Given the description of an element on the screen output the (x, y) to click on. 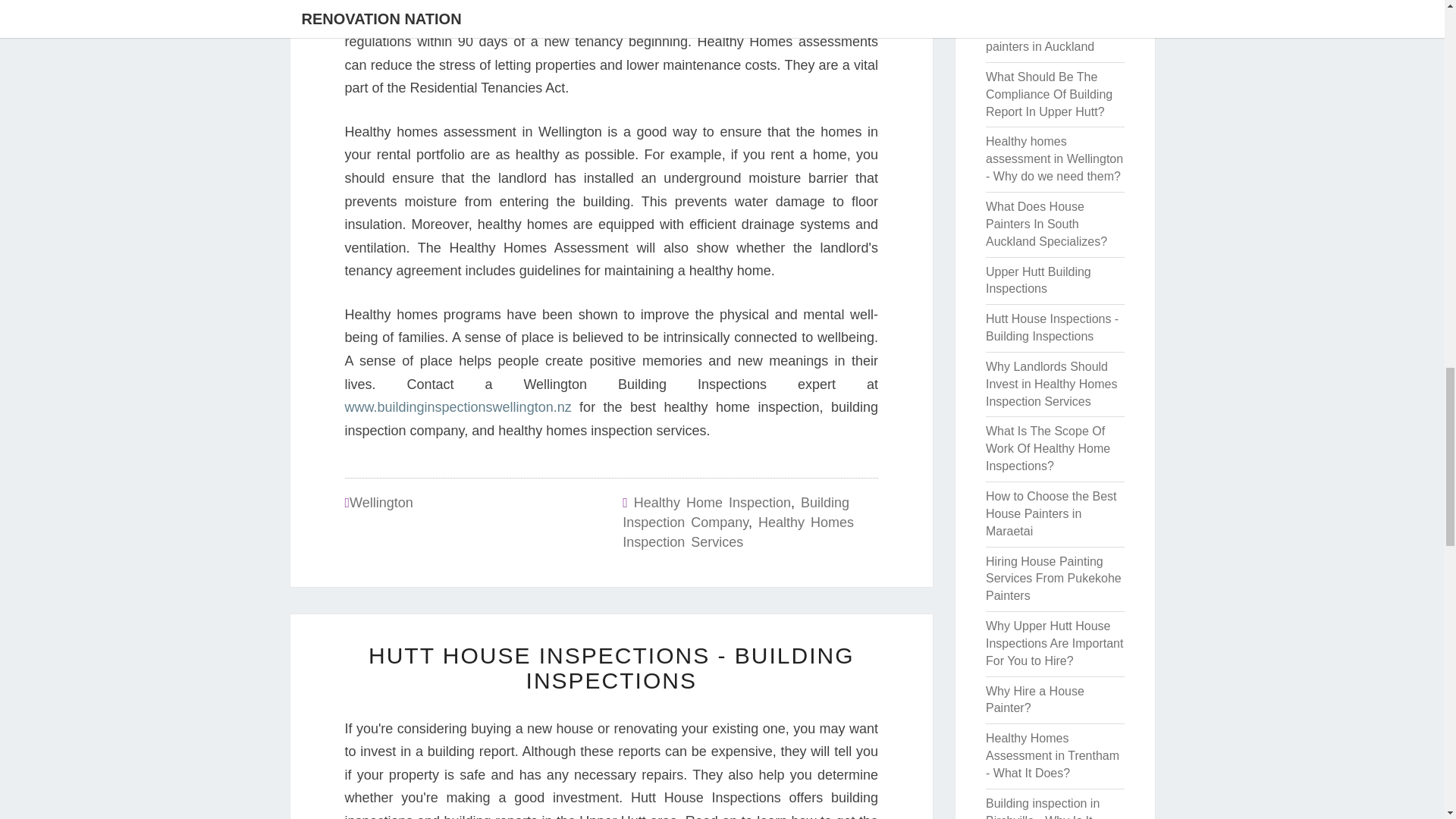
Upper Hutt Building Inspections (1037, 280)
www.buildinginspectionswellington.nz (456, 406)
Wellington (381, 502)
Building Inspection Company (735, 512)
Healthy Home Inspection (711, 502)
Healthy Homes Inspection Services (738, 532)
